Given the description of an element on the screen output the (x, y) to click on. 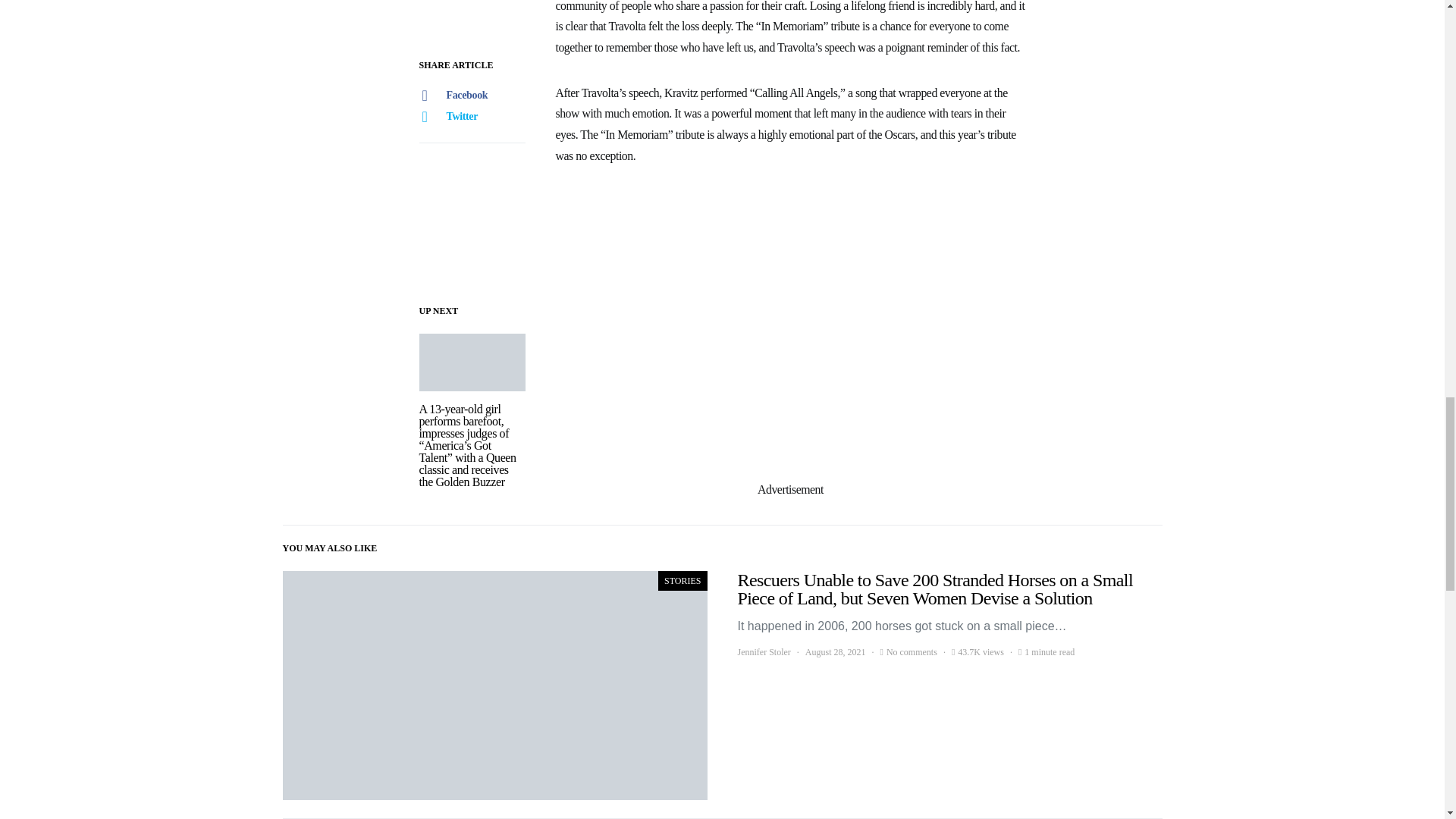
STORIES (682, 580)
View all posts by Jennifer Stoler (763, 652)
Jennifer Stoler (763, 652)
No comments (911, 652)
